Given the description of an element on the screen output the (x, y) to click on. 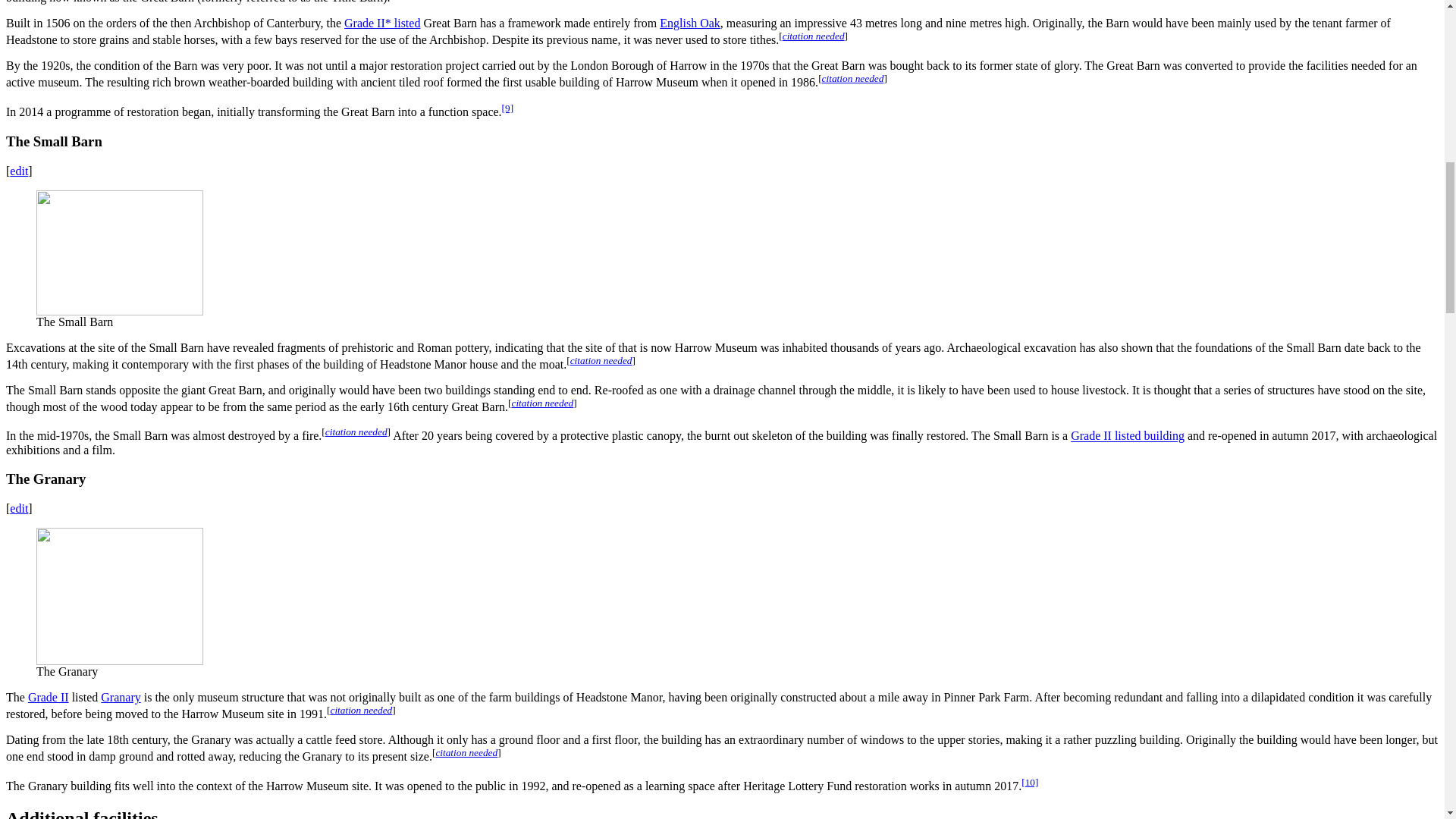
citation needed (355, 431)
citation needed (542, 402)
citation needed (852, 78)
citation needed (600, 360)
citation needed (813, 35)
English Oak (689, 22)
edit (18, 170)
English Oak (689, 22)
